Given the description of an element on the screen output the (x, y) to click on. 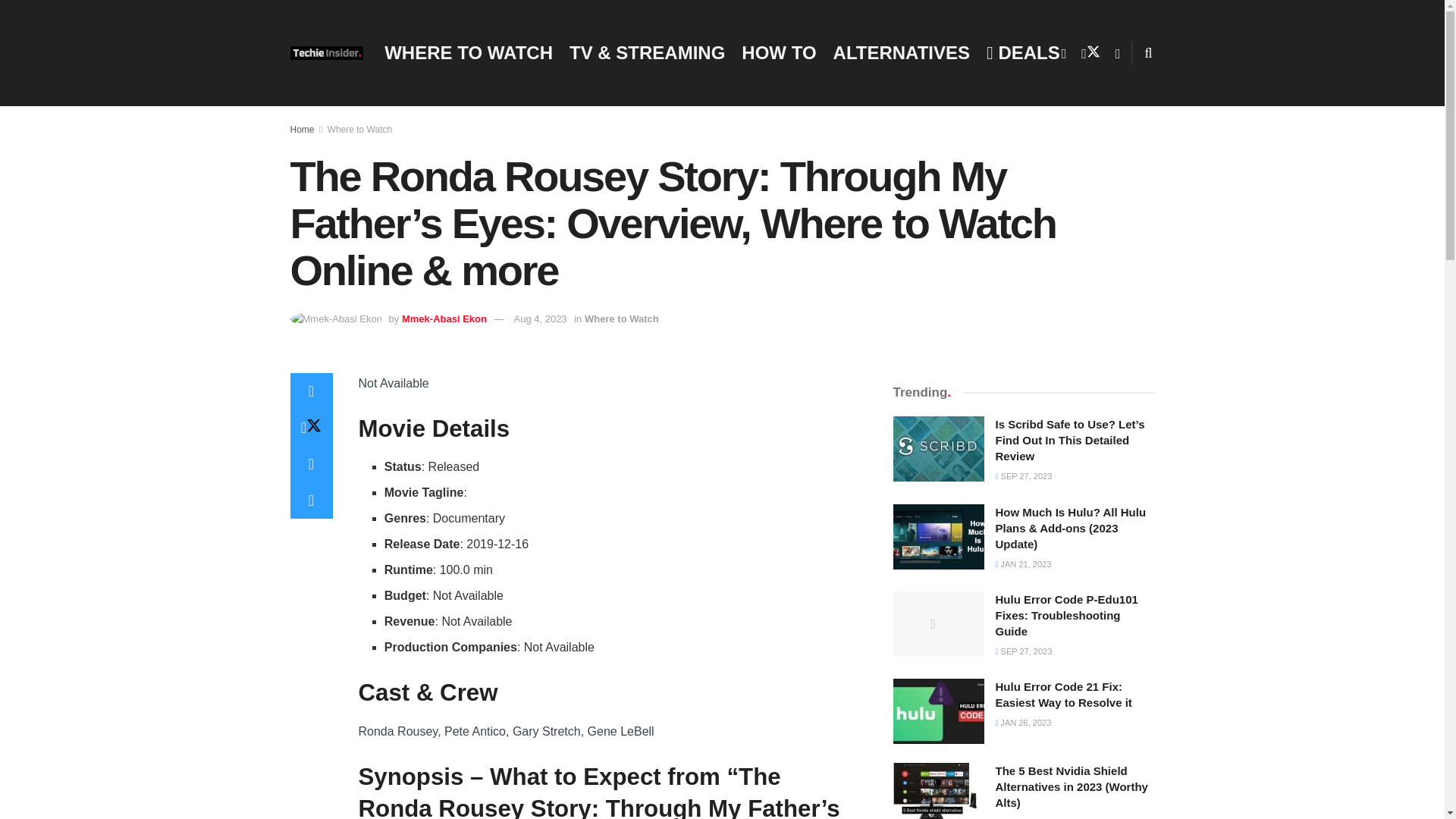
Where to Watch (622, 318)
Home (301, 129)
Mmek-Abasi Ekon (443, 318)
ALTERNATIVES (900, 52)
Where to Watch (360, 129)
HOW TO (778, 52)
WHERE TO WATCH (468, 52)
Aug 4, 2023 (539, 318)
